Given the description of an element on the screen output the (x, y) to click on. 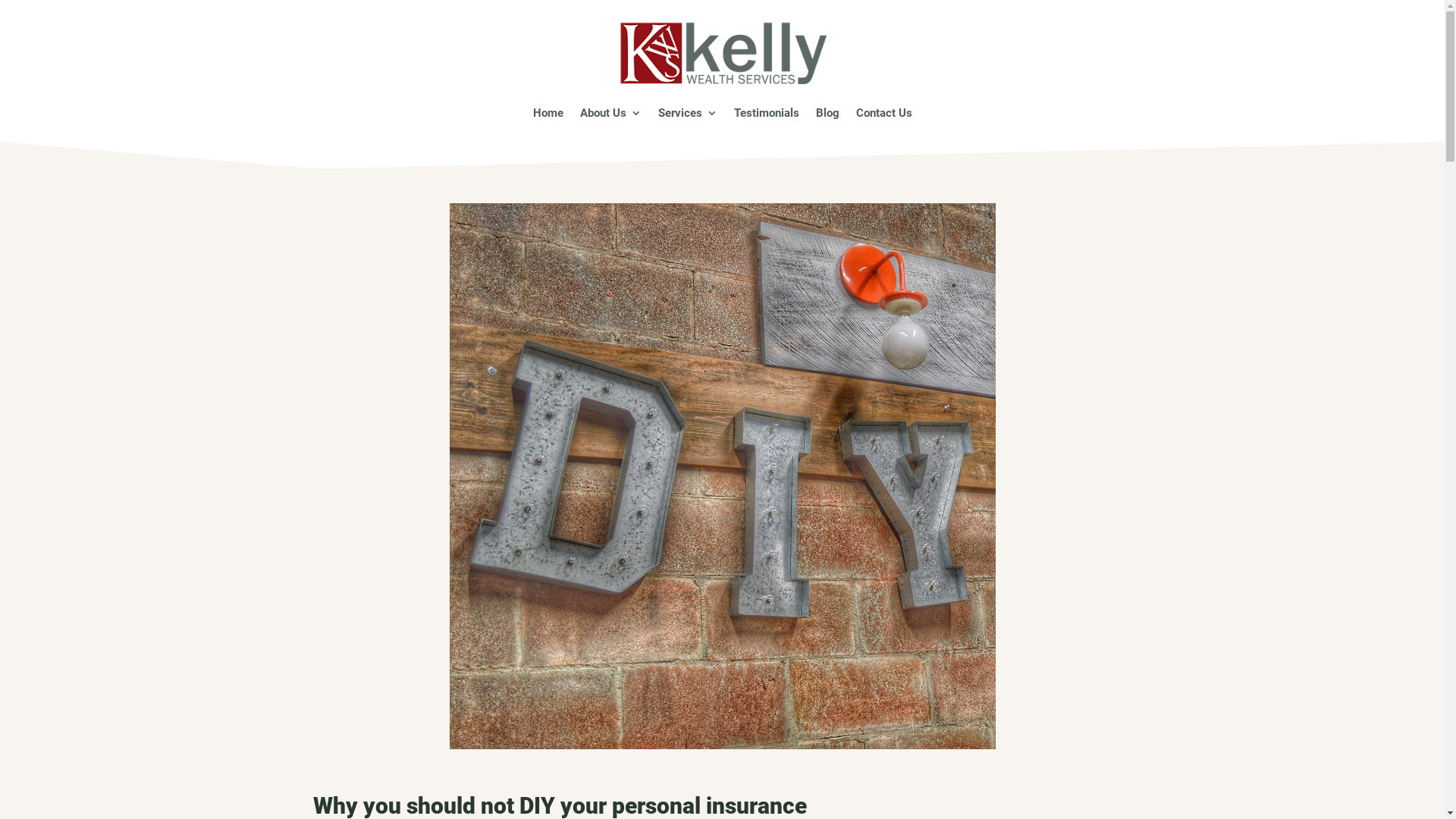
Services Element type: text (687, 112)
Testimonials Element type: text (766, 112)
About Us Element type: text (609, 112)
Home Element type: text (547, 112)
Contact Us Element type: text (883, 112)
Blog Element type: text (827, 112)
